Given the description of an element on the screen output the (x, y) to click on. 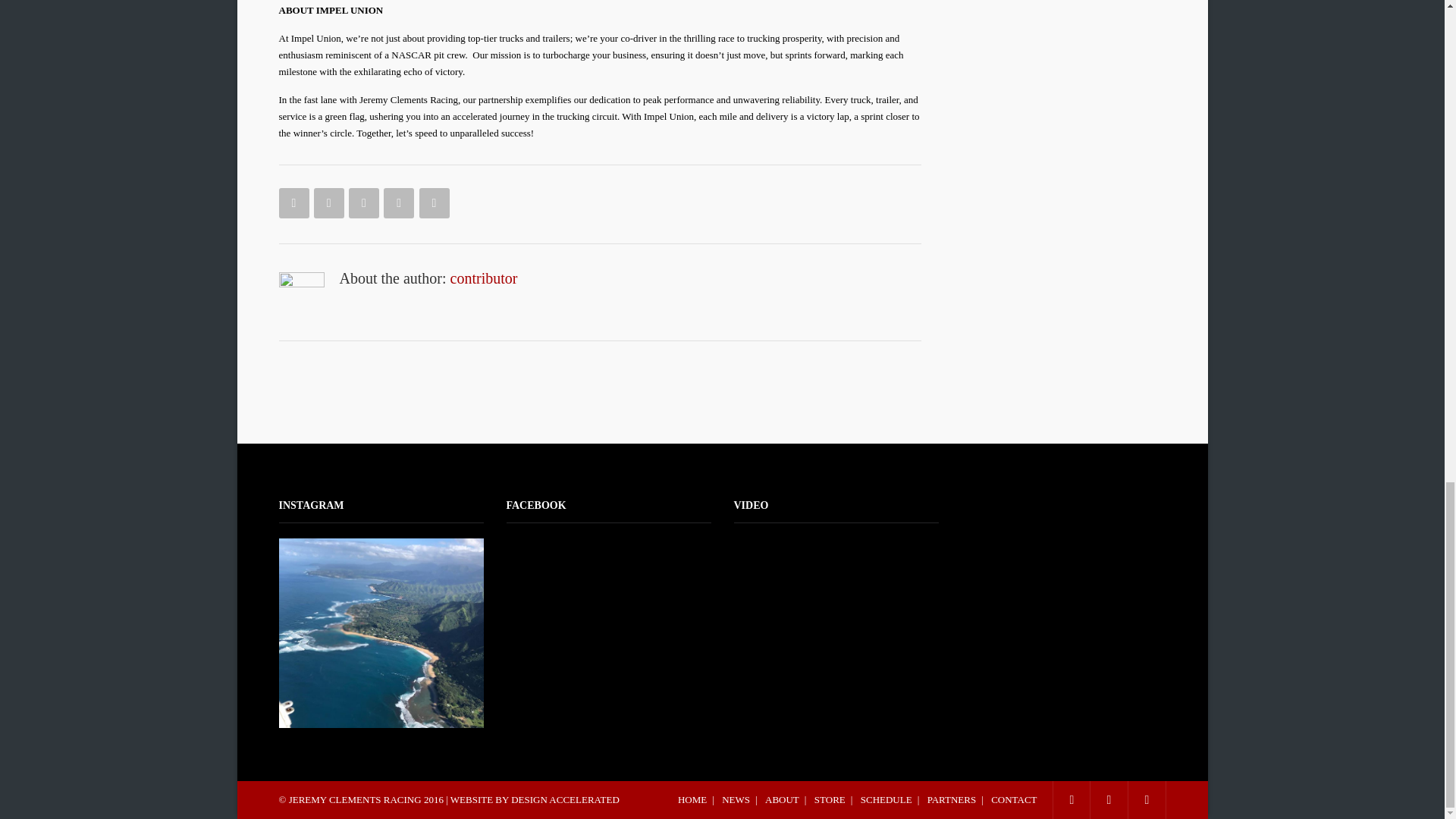
contributor (483, 278)
